Given the description of an element on the screen output the (x, y) to click on. 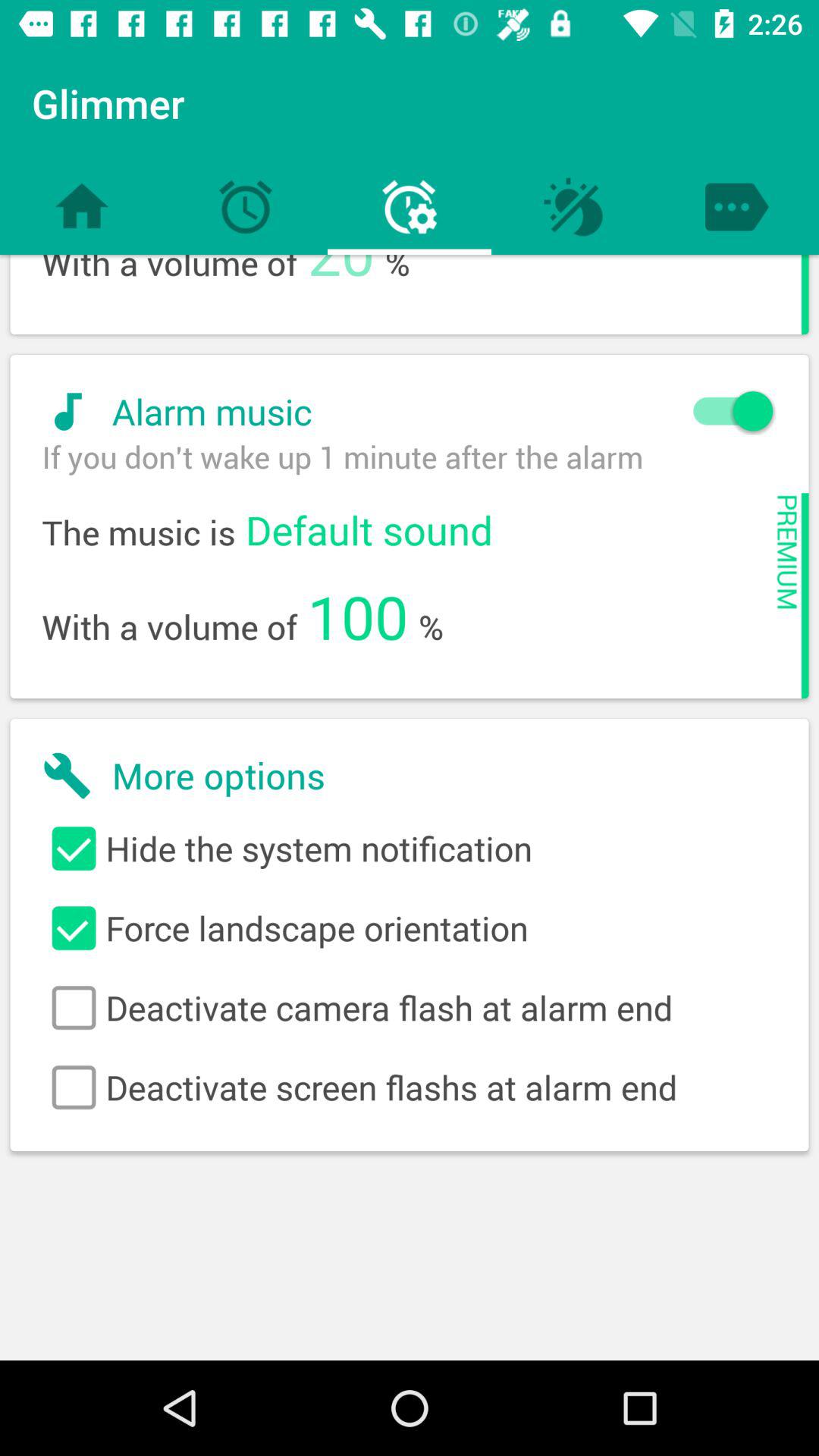
click on the first check box along with the text beside it (409, 848)
click on the fifth icon in a row below the text glimmer (737, 206)
click on the check box along with the text deactivate screen flashes at alarm end (409, 1087)
